Given the description of an element on the screen output the (x, y) to click on. 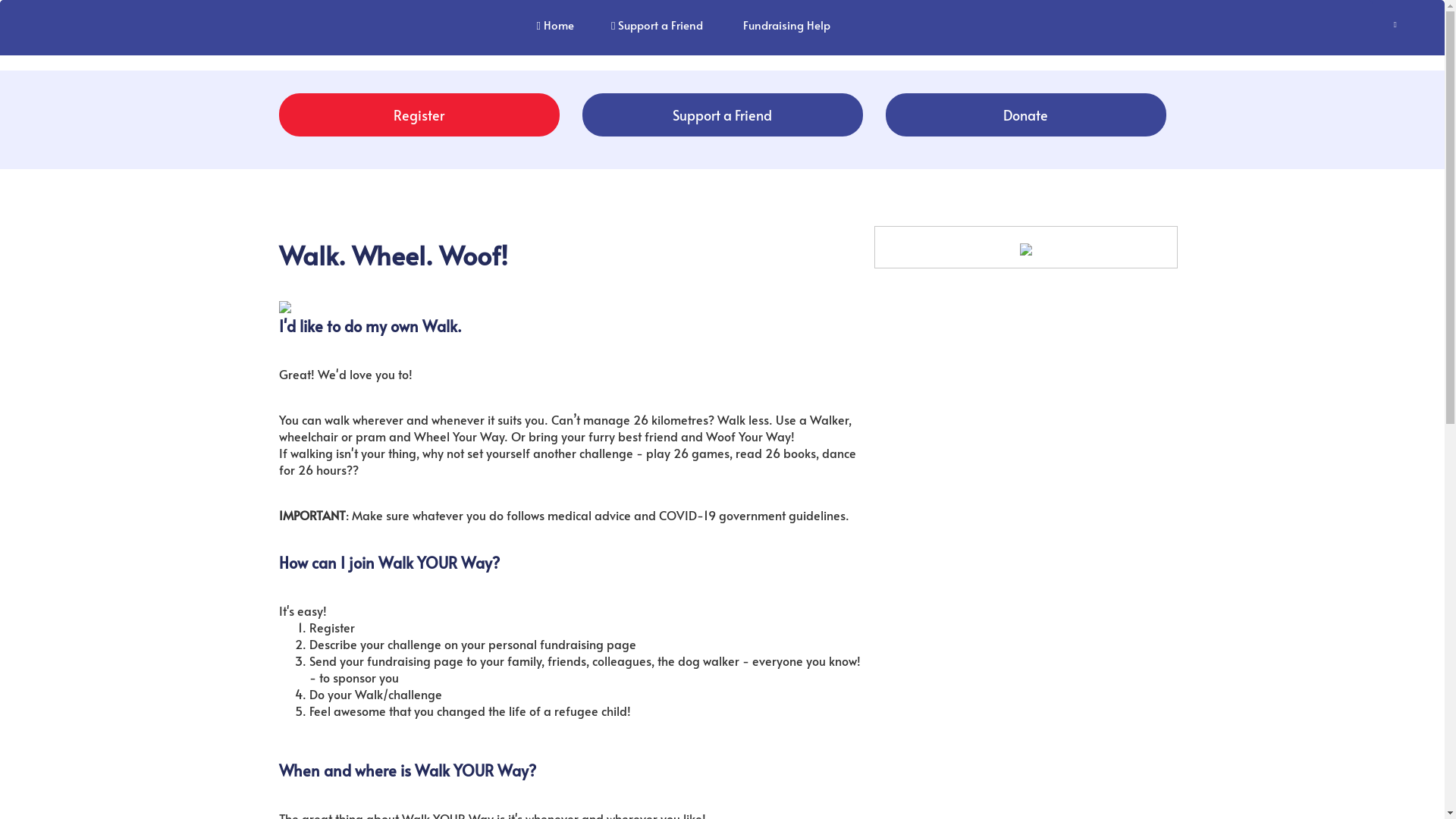
Donate Element type: text (1025, 114)
Support a Friend Element type: text (656, 24)
Register Element type: text (419, 114)
Home Element type: text (554, 24)
Fundraising Help Element type: text (785, 24)
Support a Friend Element type: text (722, 114)
